Given the description of an element on the screen output the (x, y) to click on. 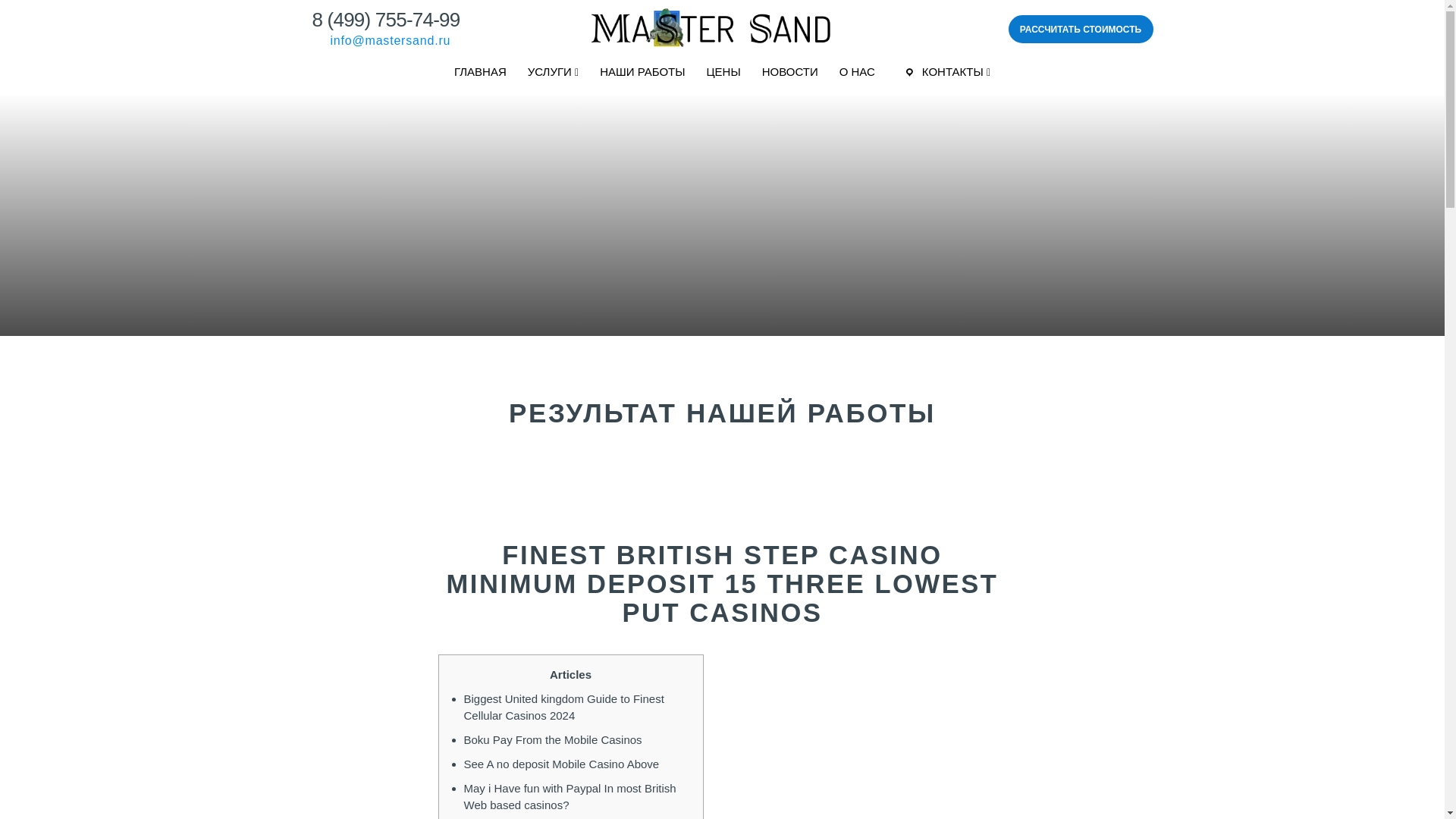
See A no deposit Mobile Casino Above (561, 763)
Boku Pay From the Mobile Casinos (553, 739)
Biggest United kingdom Guide to Finest Cellular Casinos 2024 (563, 706)
